Given the description of an element on the screen output the (x, y) to click on. 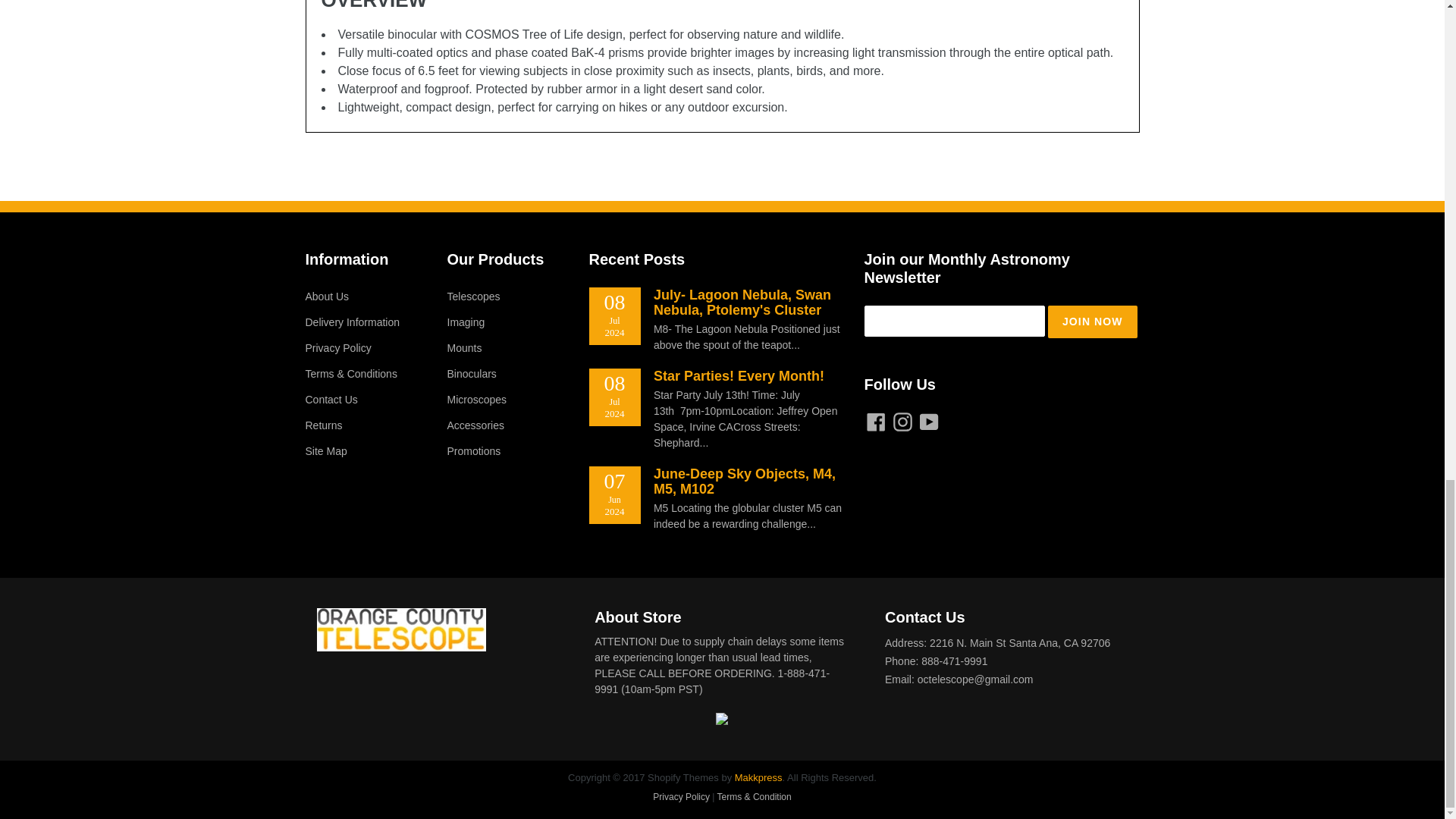
oc telescope on Instagram (902, 421)
oc telescope on Facebook (876, 421)
oc telescope on YouTube (928, 421)
